Given the description of an element on the screen output the (x, y) to click on. 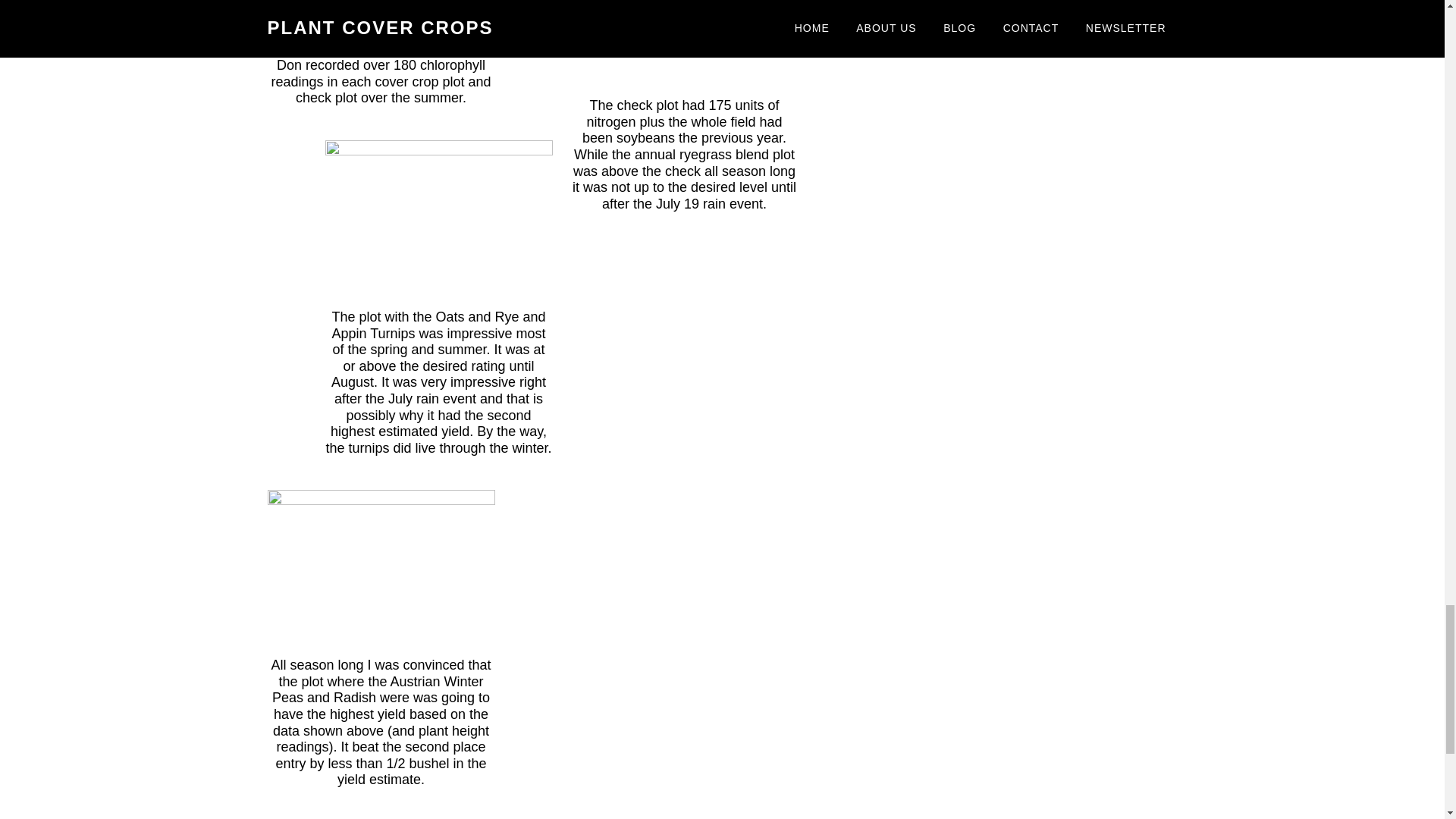
Chlorophyll meter reading corn plant (380, 25)
